Given the description of an element on the screen output the (x, y) to click on. 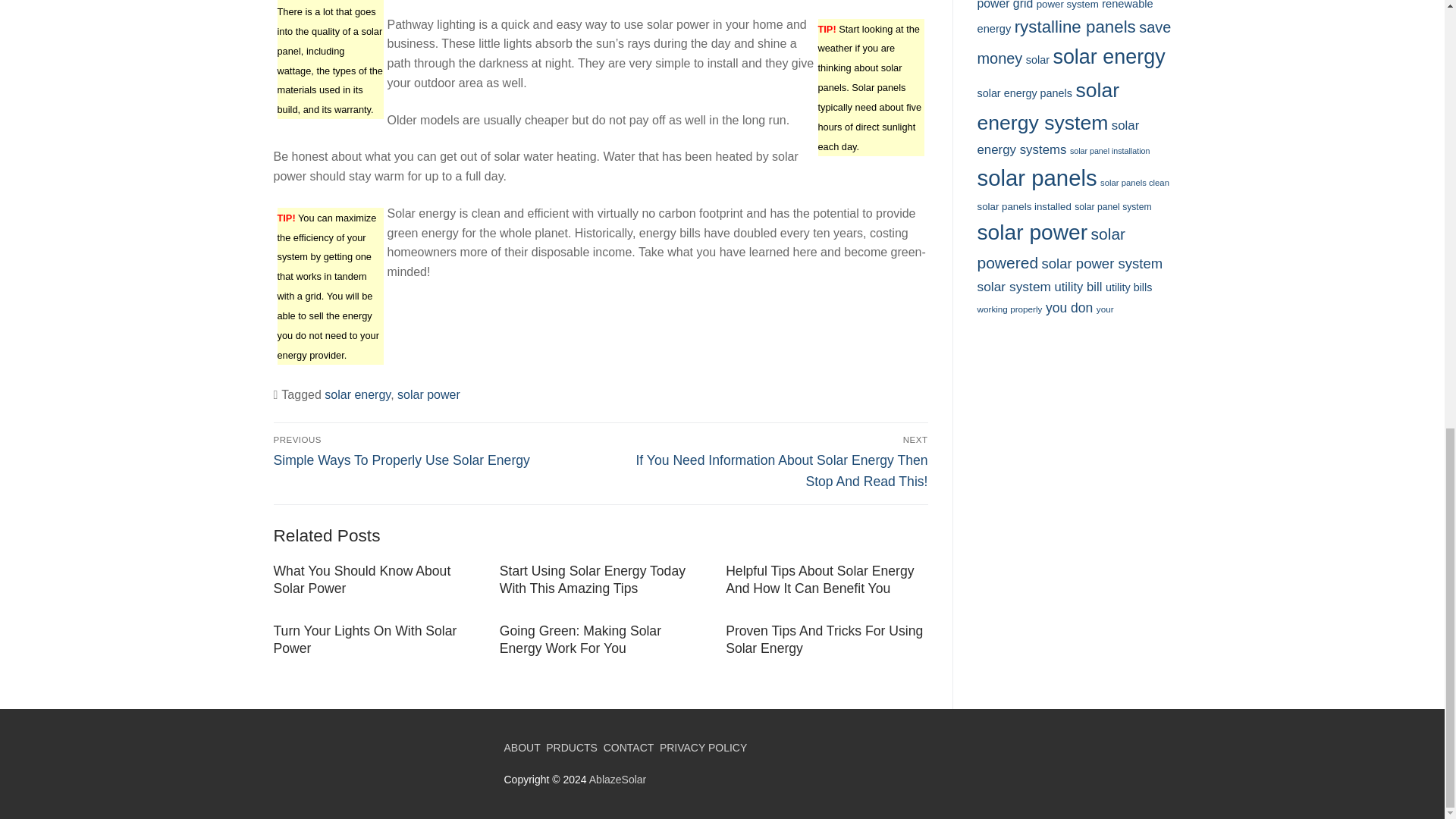
What You Should Know About Solar Power (361, 579)
Start Using Solar Energy Today With This Amazing Tips (592, 579)
Helpful Tips About Solar Energy And How It Can Benefit You (819, 579)
Start Using Solar Energy Today With This Amazing Tips (592, 579)
Going Green: Making Solar Energy Work For You (580, 639)
What You Should Know About Solar Power (361, 579)
Turn Your Lights On With Solar Power (365, 639)
Helpful Tips About Solar Energy And How It Can Benefit You (819, 579)
solar power (428, 394)
solar energy (357, 394)
Proven Tips And Tricks For Using Solar Energy (824, 639)
Going Green: Making Solar Energy Work For You (580, 639)
Proven Tips And Tricks For Using Solar Energy (824, 639)
